Given the description of an element on the screen output the (x, y) to click on. 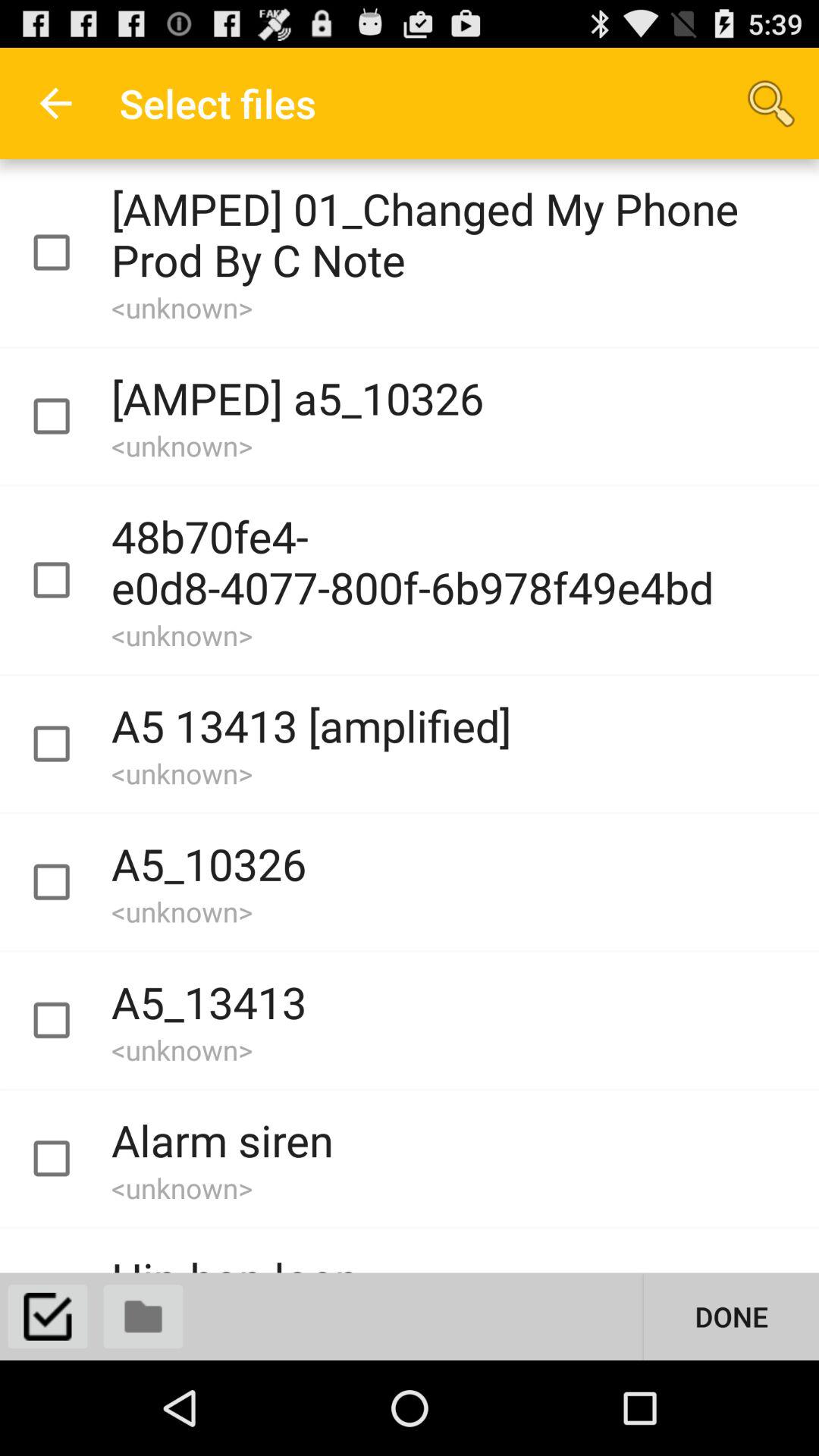
click item next to the select files (771, 103)
